Given the description of an element on the screen output the (x, y) to click on. 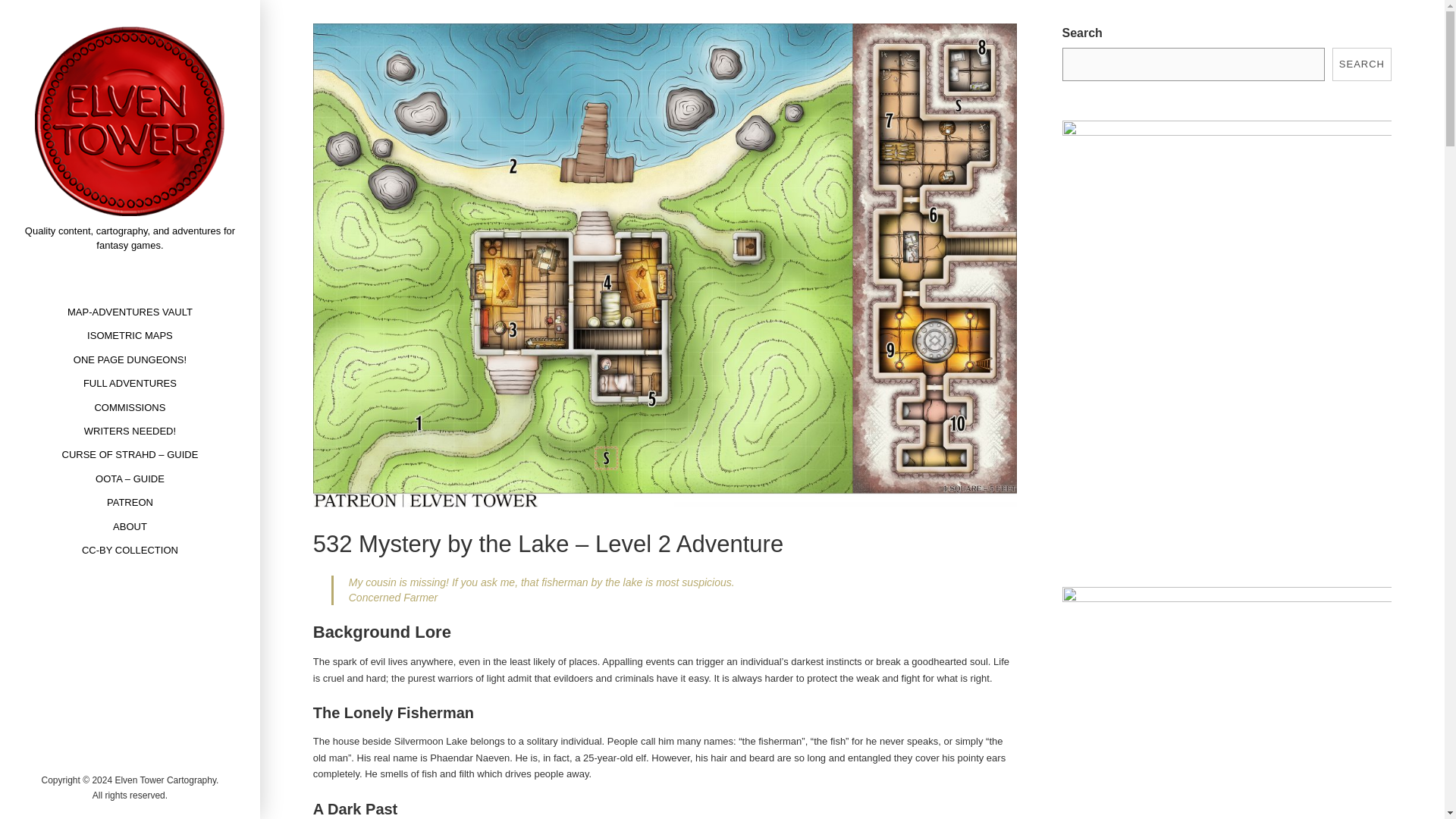
COMMISSIONS (129, 407)
SEARCH (1361, 64)
ISOMETRIC MAPS (129, 335)
FULL ADVENTURES (129, 382)
MAP-ADVENTURES VAULT (129, 311)
ONE PAGE DUNGEONS! (130, 359)
ABOUT (129, 526)
WRITERS NEEDED! (129, 431)
PATREON (130, 502)
CC-BY COLLECTION (129, 549)
